Given the description of an element on the screen output the (x, y) to click on. 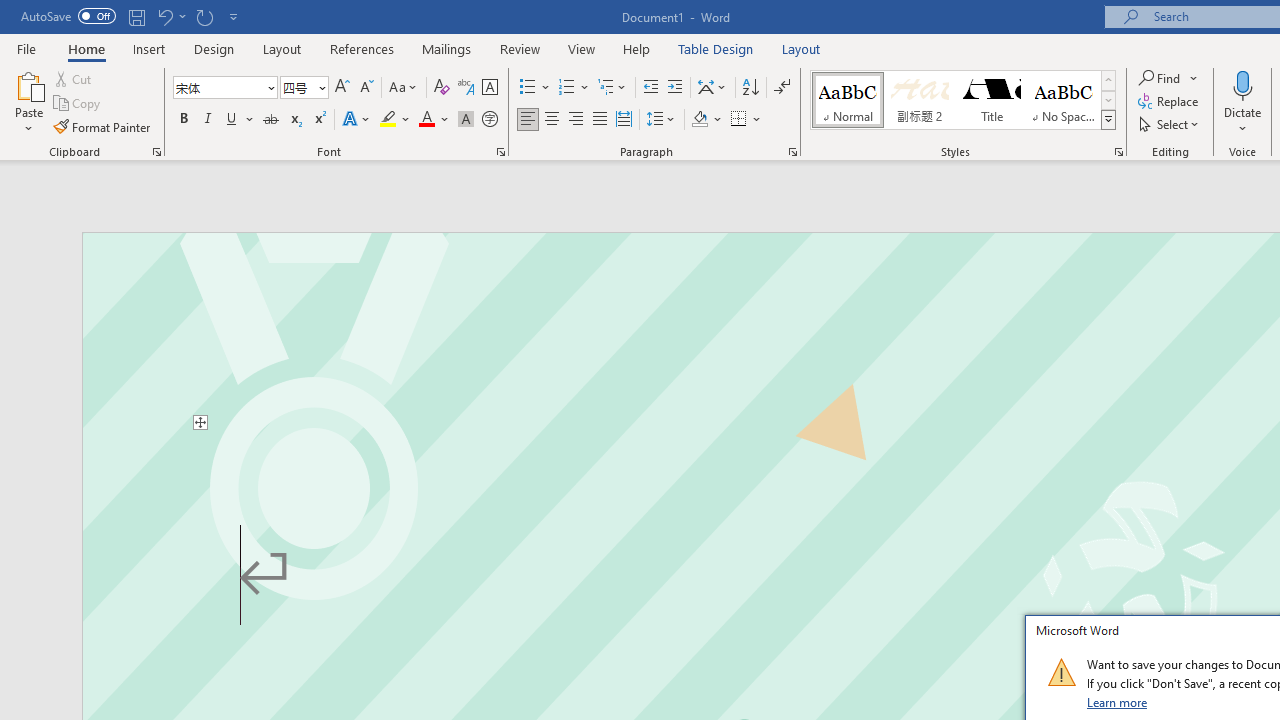
Undo Text Fill Effect (170, 15)
